Given the description of an element on the screen output the (x, y) to click on. 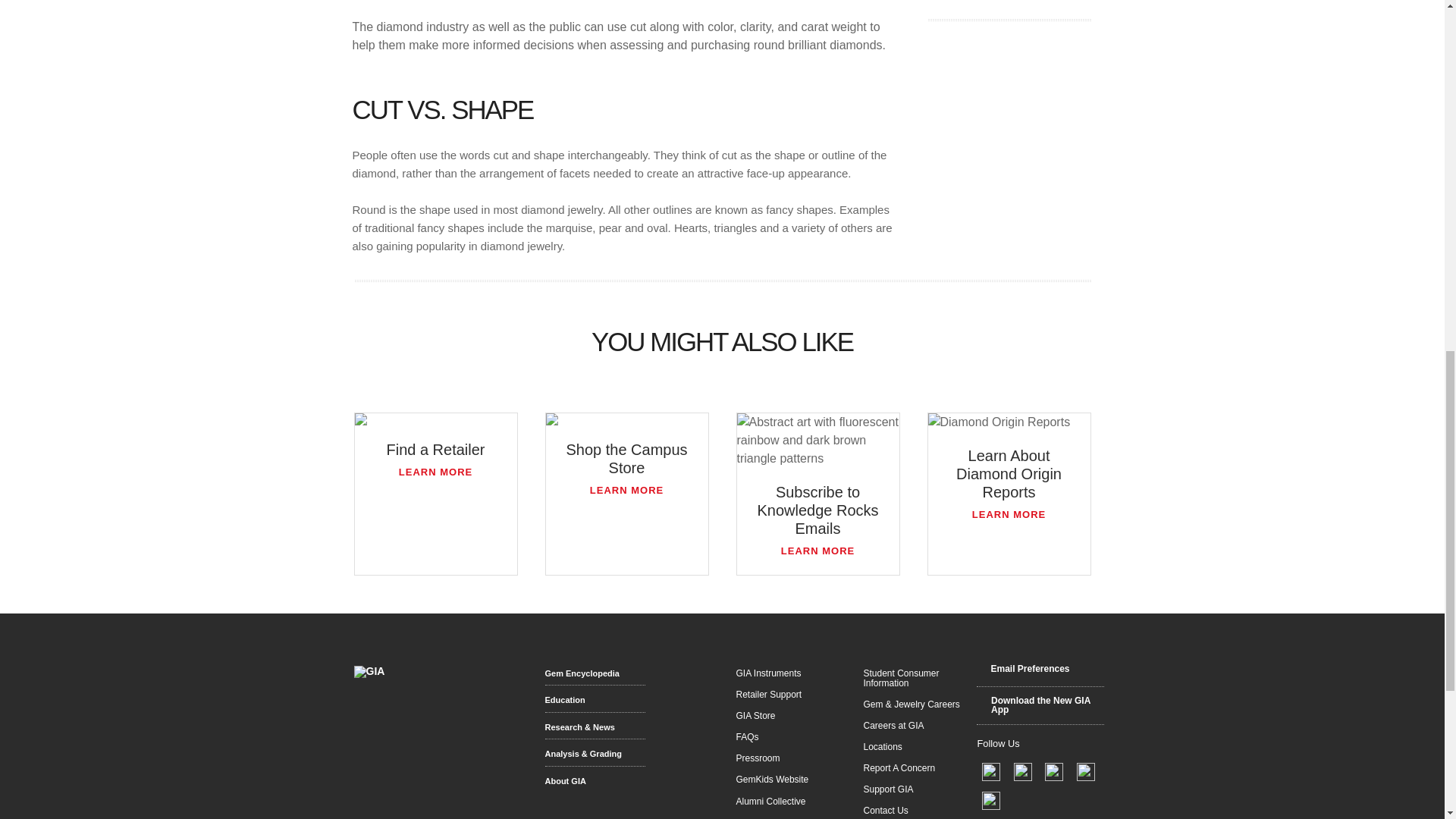
GIA (368, 671)
Follow on Instagram (991, 799)
Diamond Origin Reports (1009, 422)
Follow on LinkedIn (1024, 771)
Follow on YouTube (1084, 771)
Follow on Pinterest (1054, 771)
Follow on Facebook (991, 771)
